Given the description of an element on the screen output the (x, y) to click on. 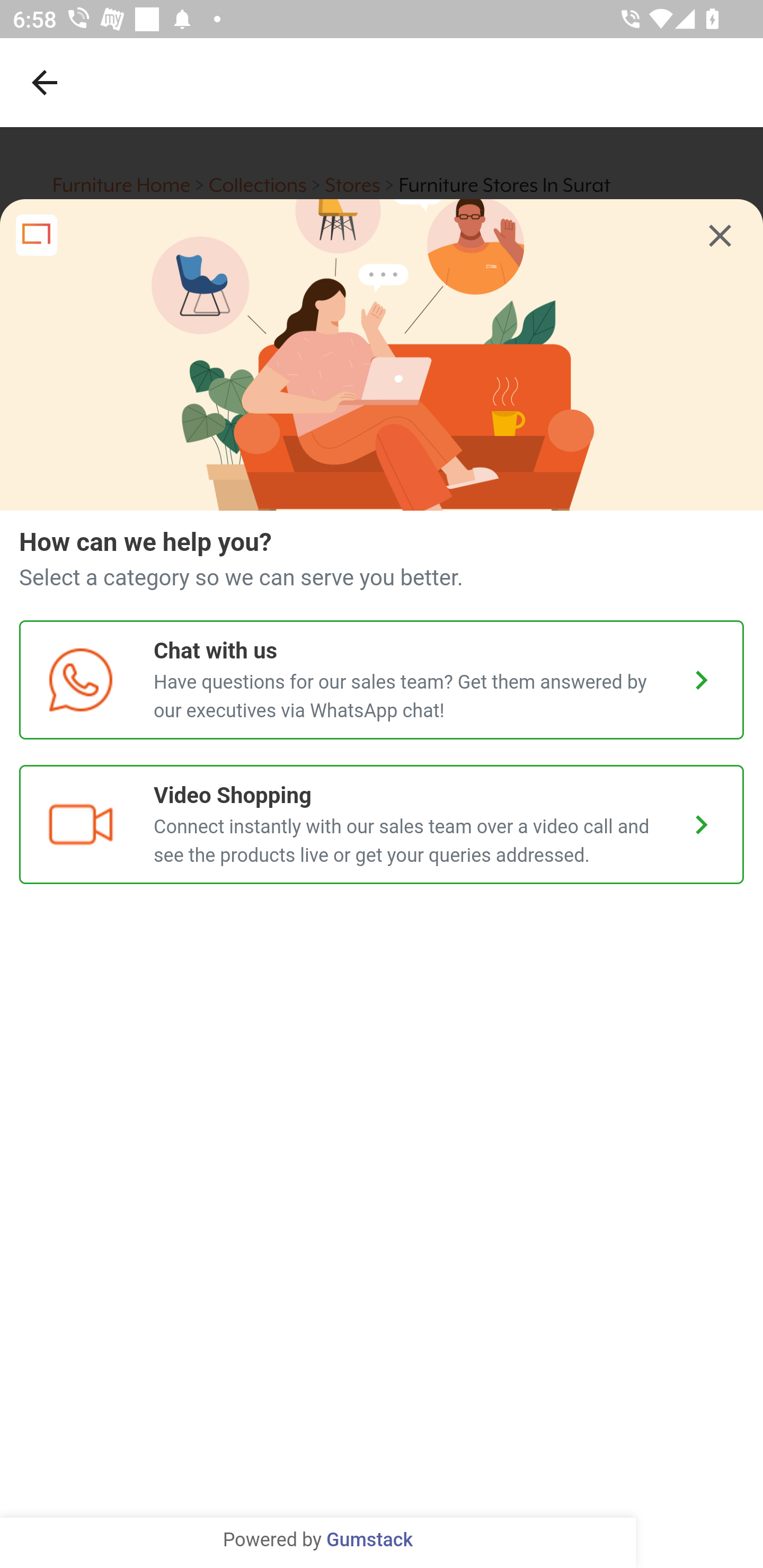
Navigate up (44, 82)
clear (720, 235)
Gumstack (369, 1540)
